Given the description of an element on the screen output the (x, y) to click on. 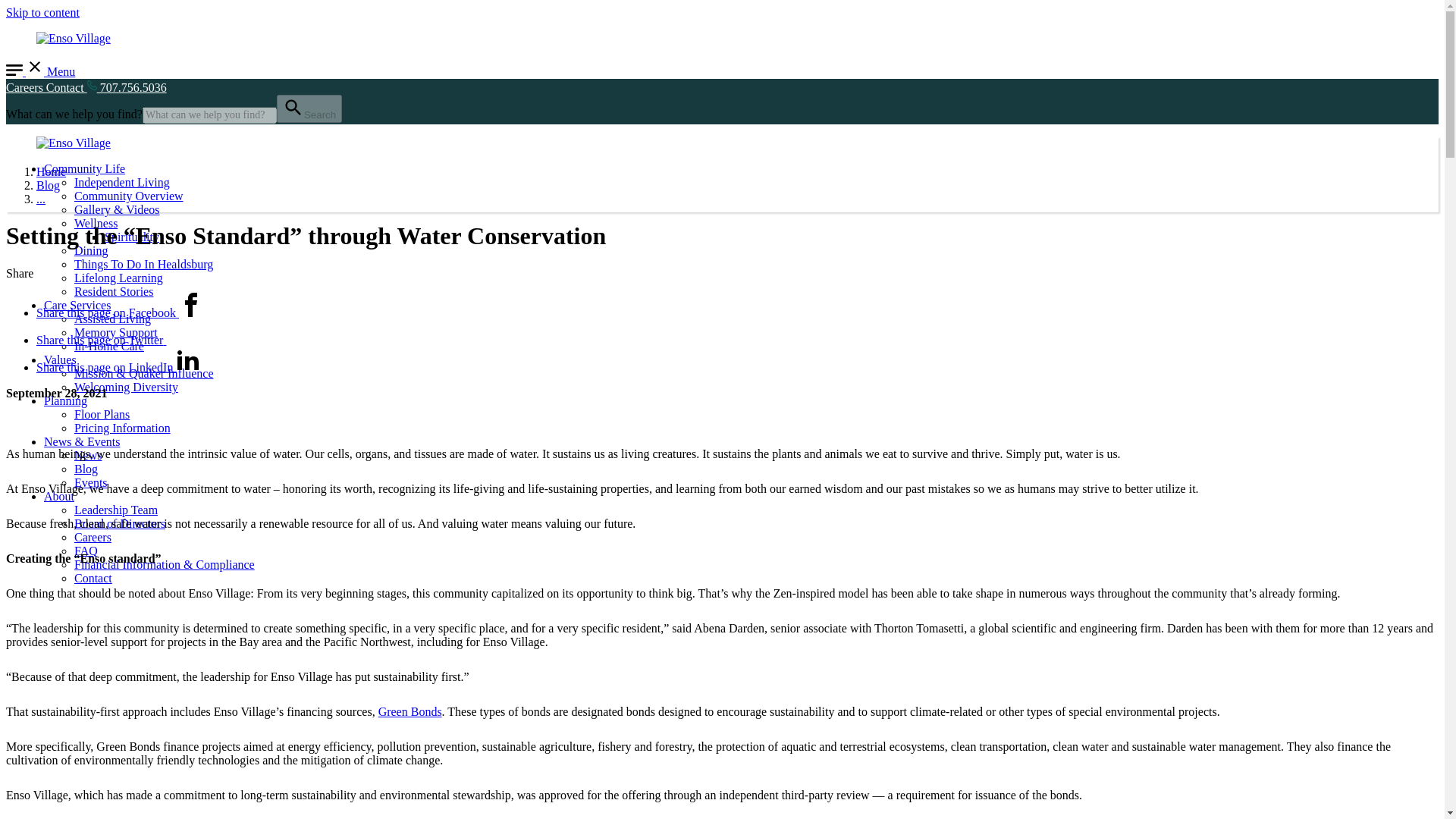
Lifelong Learning (118, 277)
Events (90, 481)
Menu (40, 71)
Contact (93, 577)
Community Life (84, 168)
Independent Living (122, 182)
Contact (66, 87)
Board of Directors (119, 522)
About (58, 495)
Search (309, 108)
